Given the description of an element on the screen output the (x, y) to click on. 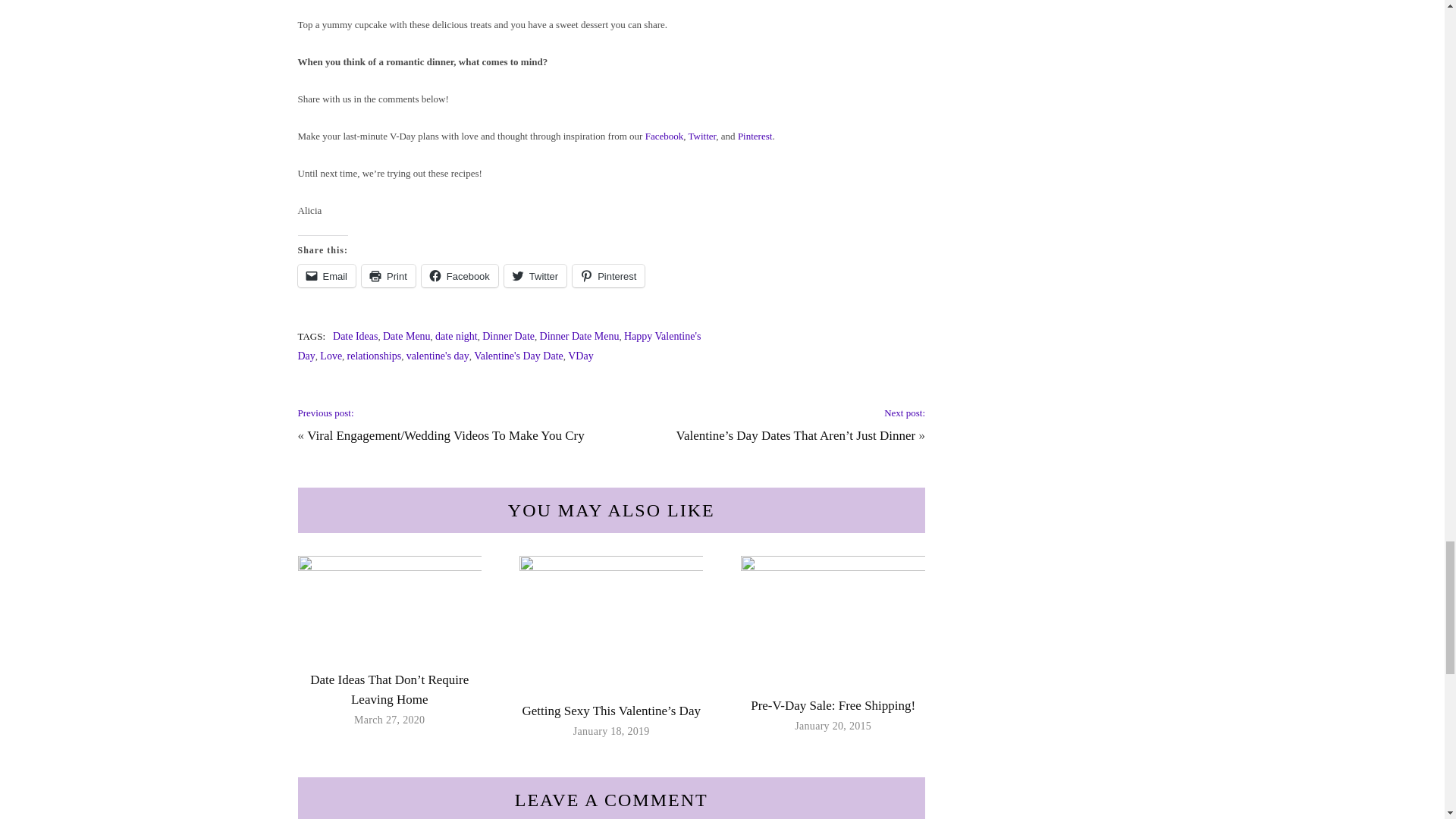
Happy Valentine's Day (498, 345)
Click to print (387, 275)
Valentine's Day Date (518, 355)
Facebook (459, 275)
Print (387, 275)
Twitter (702, 135)
date night (456, 336)
Click to email a link to a friend (326, 275)
Pinterest (755, 135)
Date Ideas (355, 336)
Click to share on Twitter (534, 275)
Date Menu (406, 336)
Twitter (534, 275)
Click to share on Facebook (459, 275)
Email (326, 275)
